Given the description of an element on the screen output the (x, y) to click on. 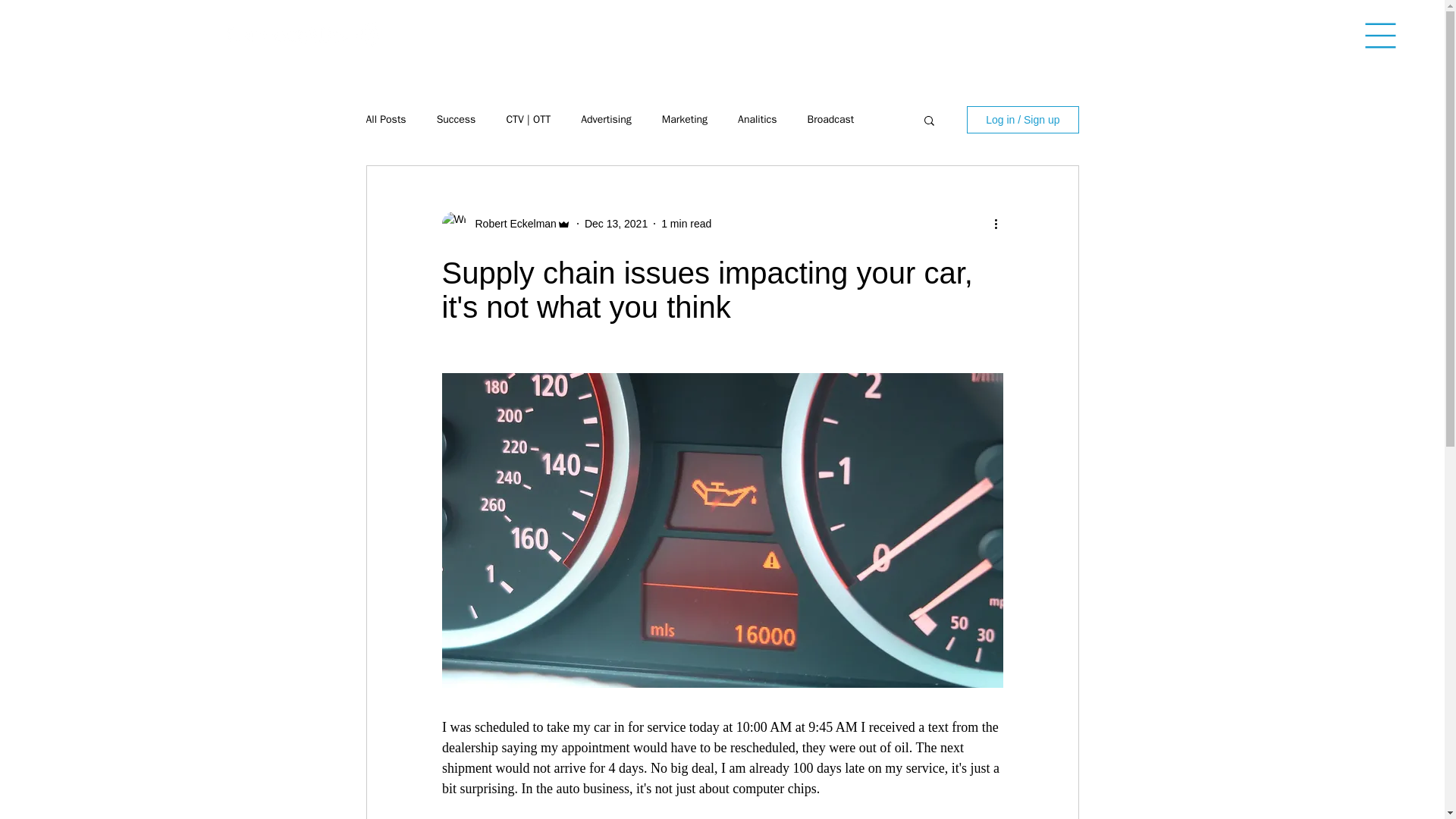
VIDEOS (803, 34)
Advertising (605, 119)
Analitics (757, 119)
CALCULATOR (614, 34)
Dec 13, 2021 (616, 223)
BLOG (461, 34)
REPORTS (738, 34)
CONTACT (1195, 34)
Broadcast (831, 119)
HOME (408, 34)
